Given the description of an element on the screen output the (x, y) to click on. 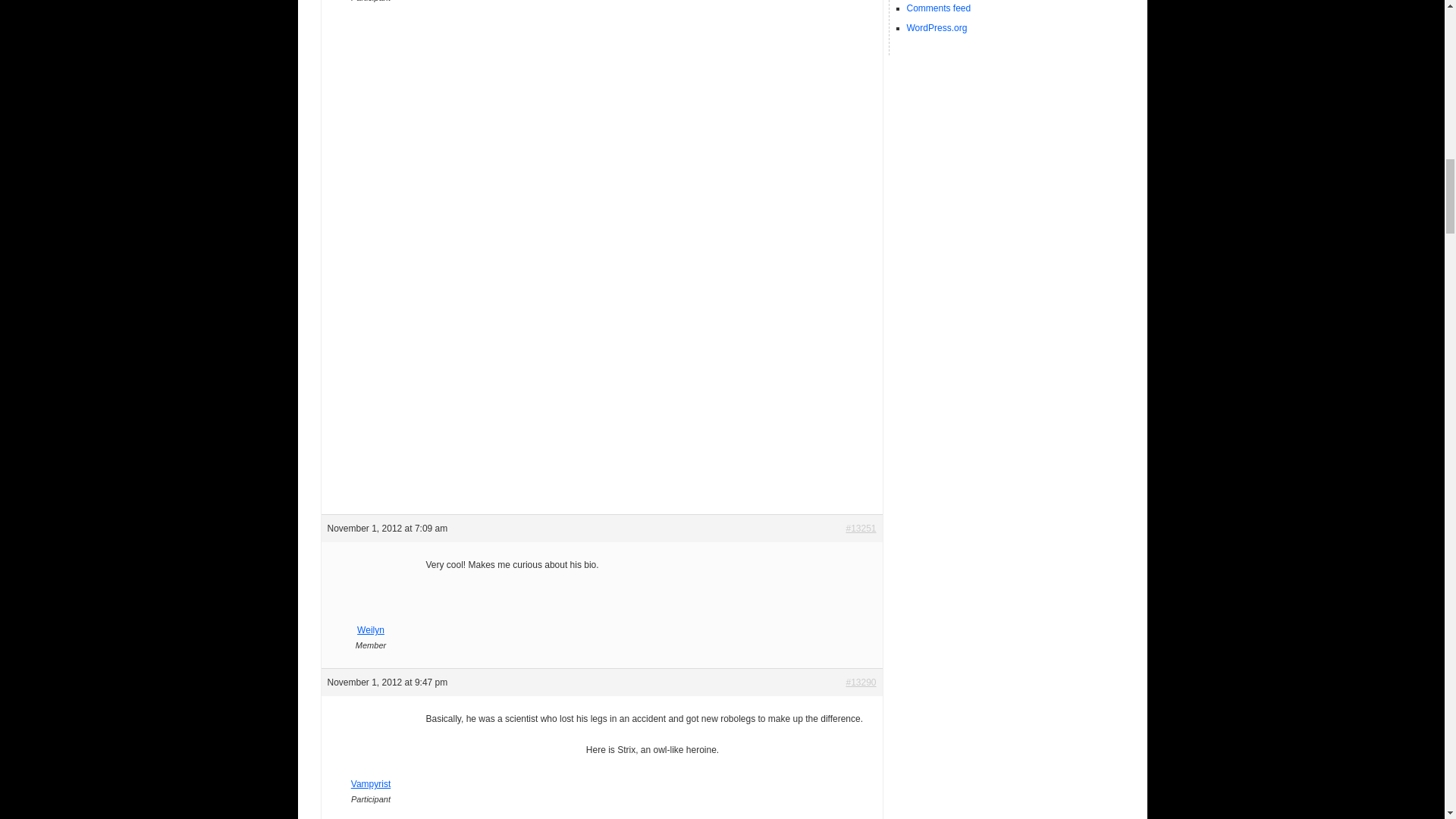
Weilyn (370, 622)
View Weilyn's profile (370, 622)
View Vampyrist's profile (370, 776)
Vampyrist (370, 776)
